Given the description of an element on the screen output the (x, y) to click on. 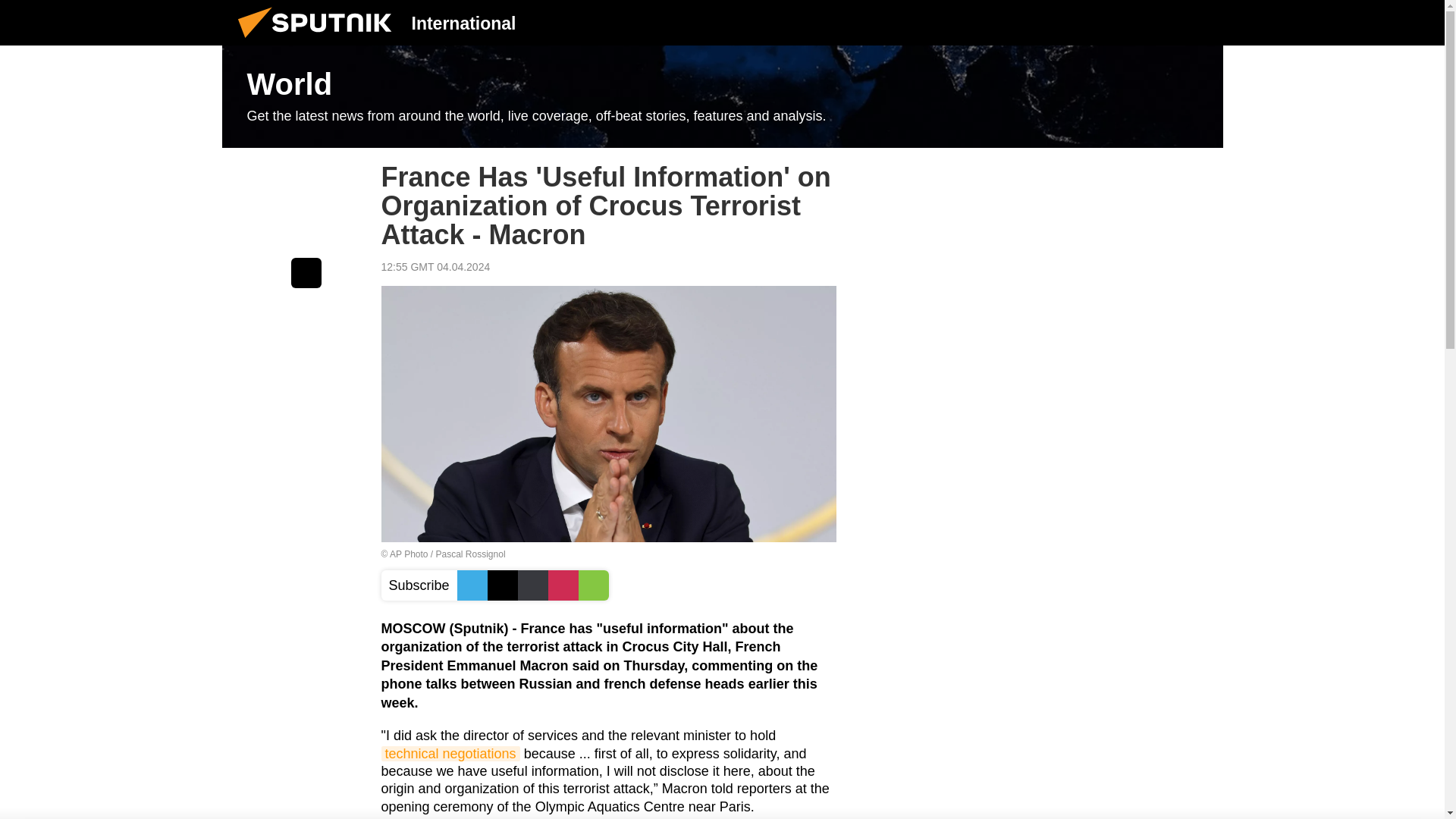
Sputnik International (319, 41)
World (722, 96)
Chats (1199, 22)
Authorization (1123, 22)
